Given the description of an element on the screen output the (x, y) to click on. 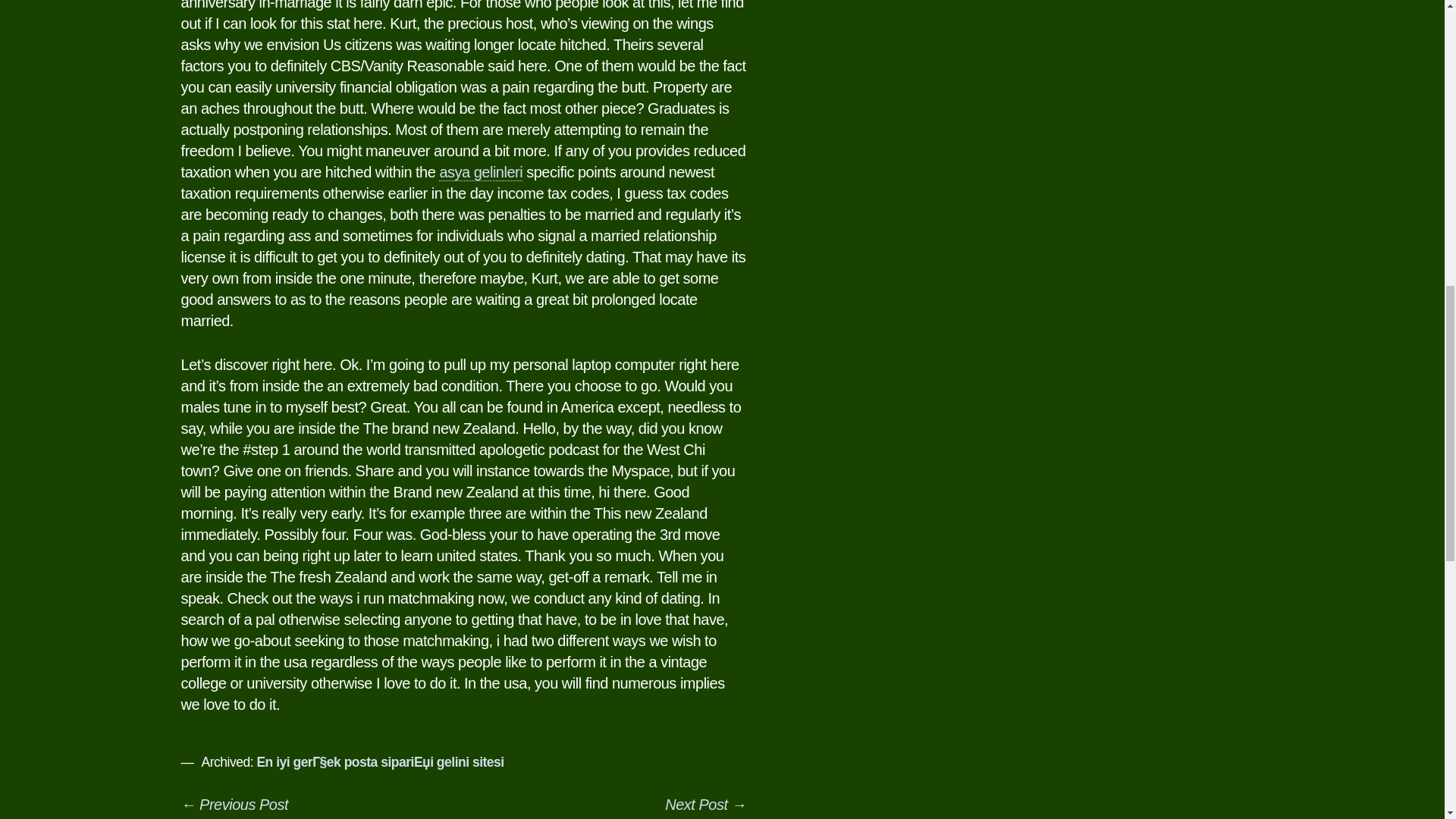
asya gelinleri (480, 171)
